Given the description of an element on the screen output the (x, y) to click on. 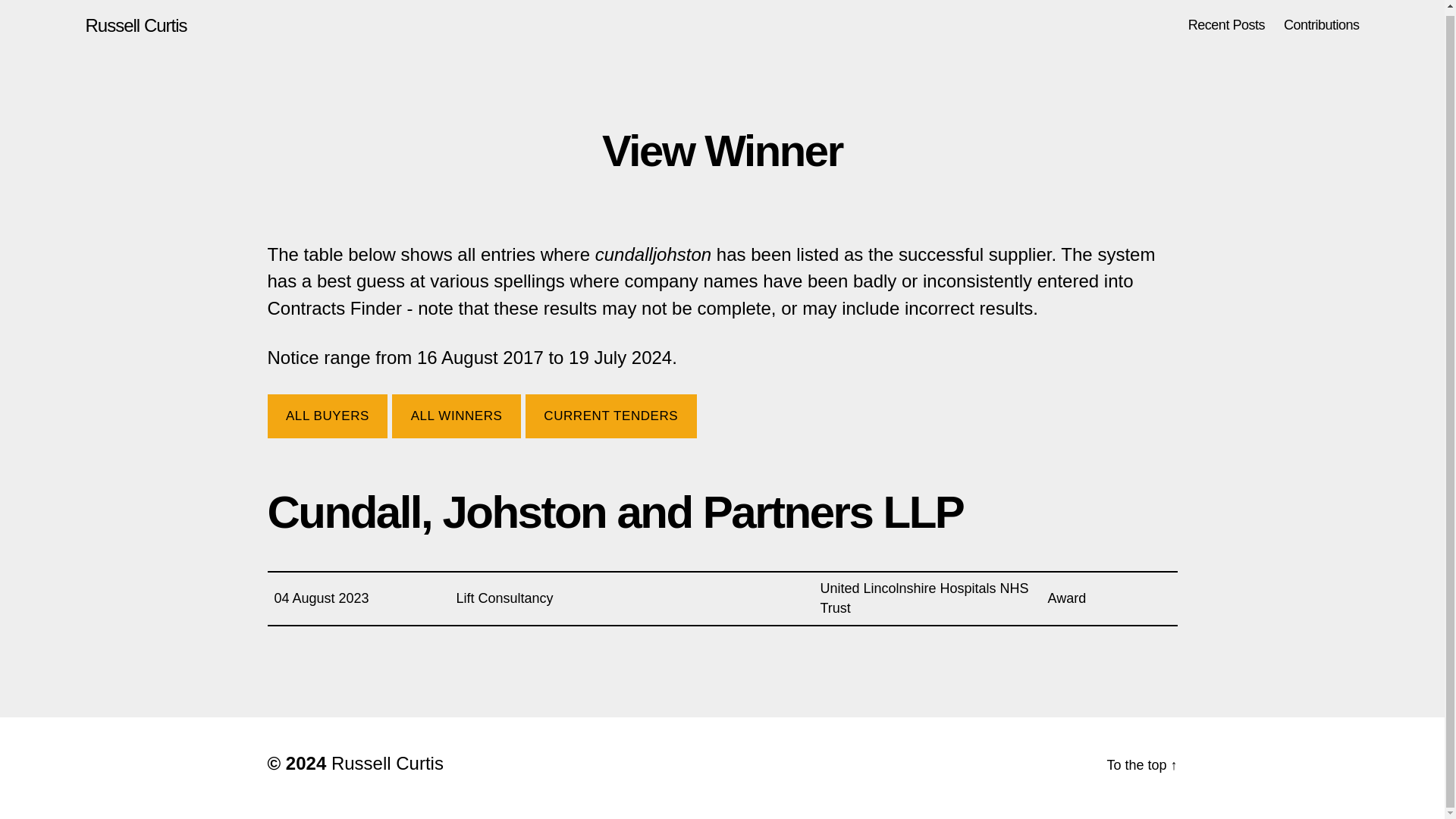
Russell Curtis (135, 25)
ALL BUYERS (326, 415)
ALL WINNERS (456, 415)
Russell Curtis (387, 762)
Contributions (1321, 25)
Recent Posts (1226, 25)
Lift Consultancy (505, 598)
CURRENT TENDERS (611, 415)
